Given the description of an element on the screen output the (x, y) to click on. 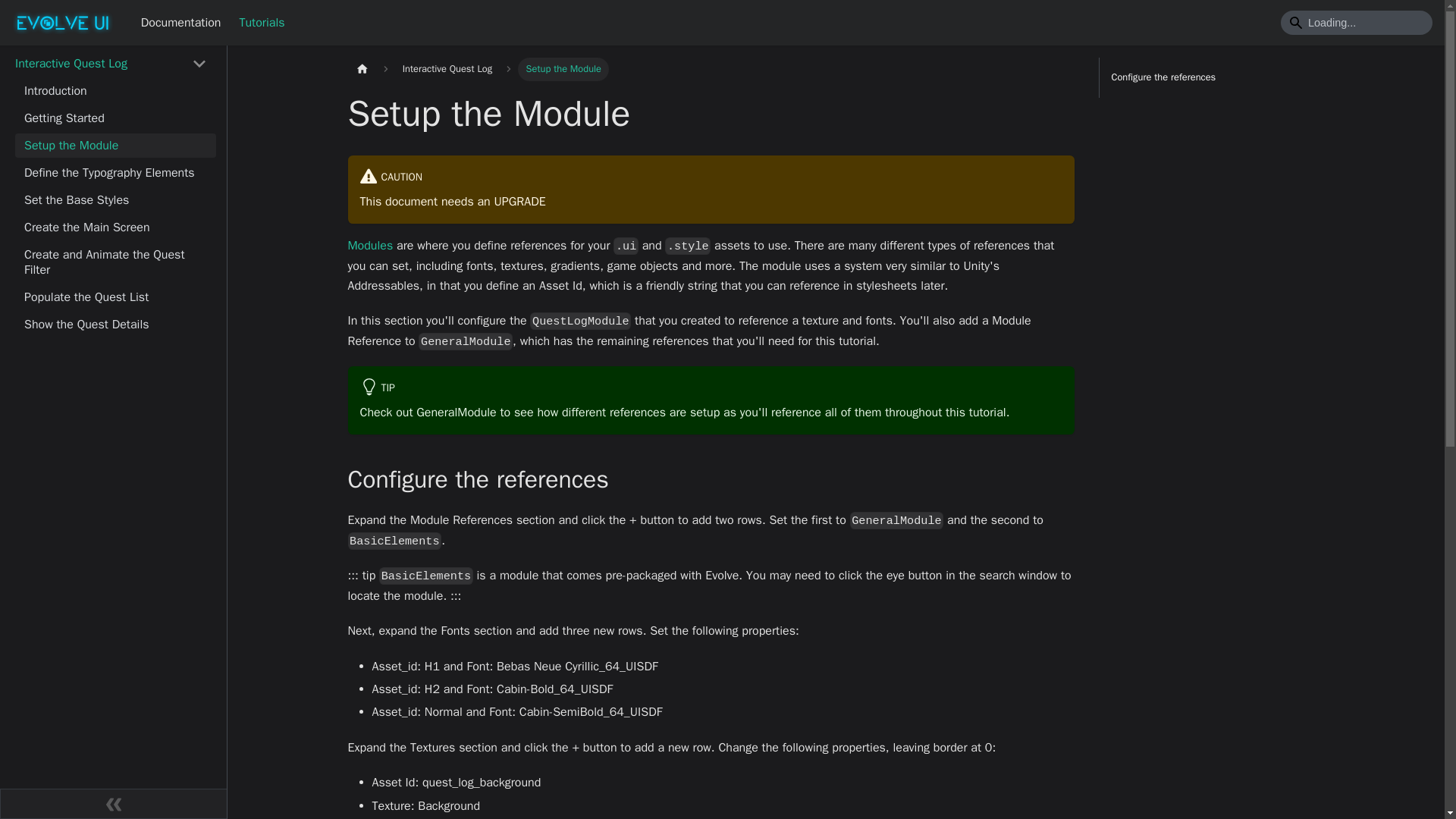
Setup the Module (114, 145)
Introduction (114, 90)
Getting Started (114, 118)
Set the Base Styles (114, 200)
Create and Animate the Quest Filter (114, 261)
Populate the Quest List (114, 297)
Documentation (181, 22)
Create the Main Screen (114, 227)
Configure the references (1215, 77)
Show the Quest Details (114, 324)
